Given the description of an element on the screen output the (x, y) to click on. 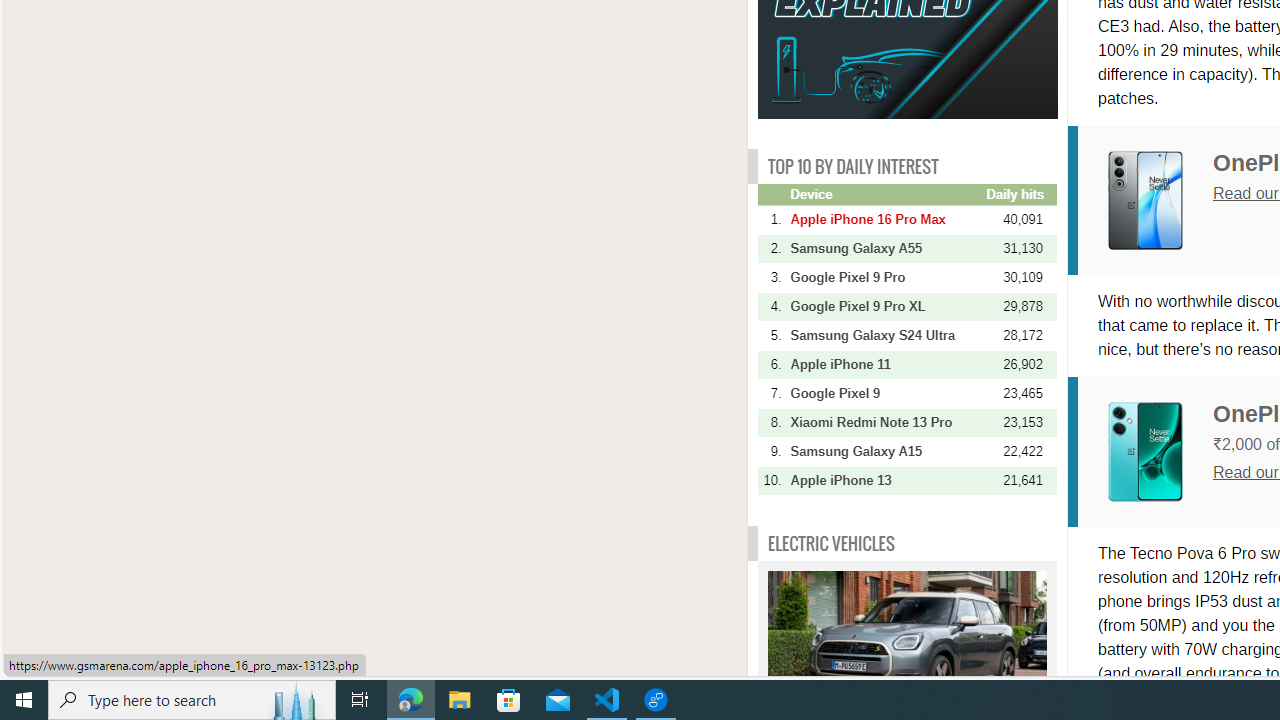
Samsung Galaxy S24 Ultra (886, 335)
OnePlus Nord CE3 (1145, 451)
OnePlus Nord CE4 (1145, 201)
Google Pixel 9 Pro XL (886, 306)
Samsung Galaxy A15 (886, 451)
Samsung Galaxy A55 (886, 248)
Google Pixel 9 Pro (886, 277)
OnePlus Nord CE3 (1160, 451)
Xiaomi Redmi Note 13 Pro (886, 422)
Google Pixel 9 (886, 393)
OnePlus Nord CE4 (1160, 200)
Apple iPhone 11 (886, 363)
Apple iPhone 16 Pro Max (886, 219)
Apple iPhone 13 (886, 480)
